Given the description of an element on the screen output the (x, y) to click on. 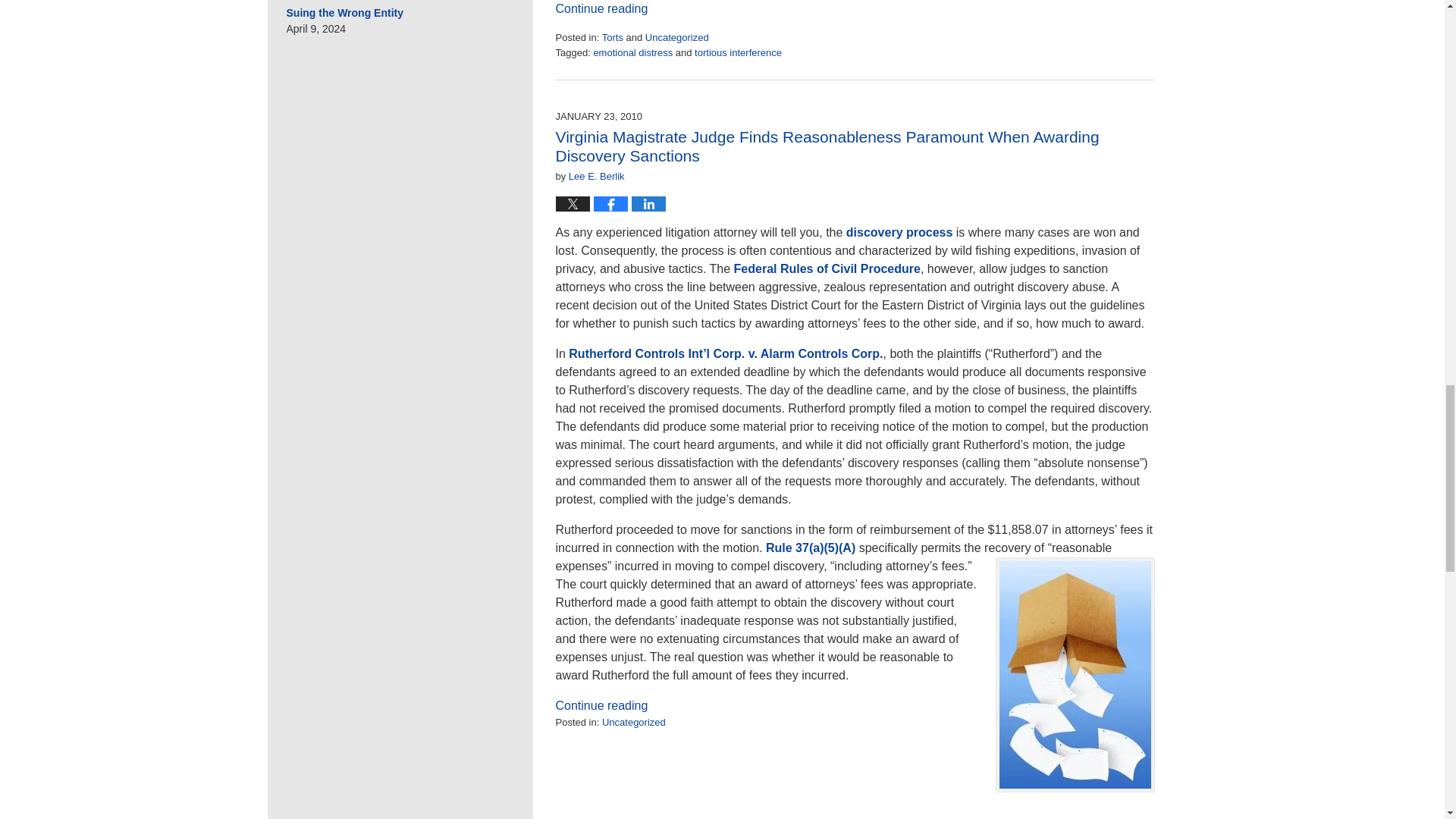
View all posts in Torts (612, 37)
View all posts tagged with emotional distress (632, 52)
View all posts in Uncategorized (633, 722)
View all posts in Uncategorized (677, 37)
View all posts tagged with tortious interference (737, 52)
